Given the description of an element on the screen output the (x, y) to click on. 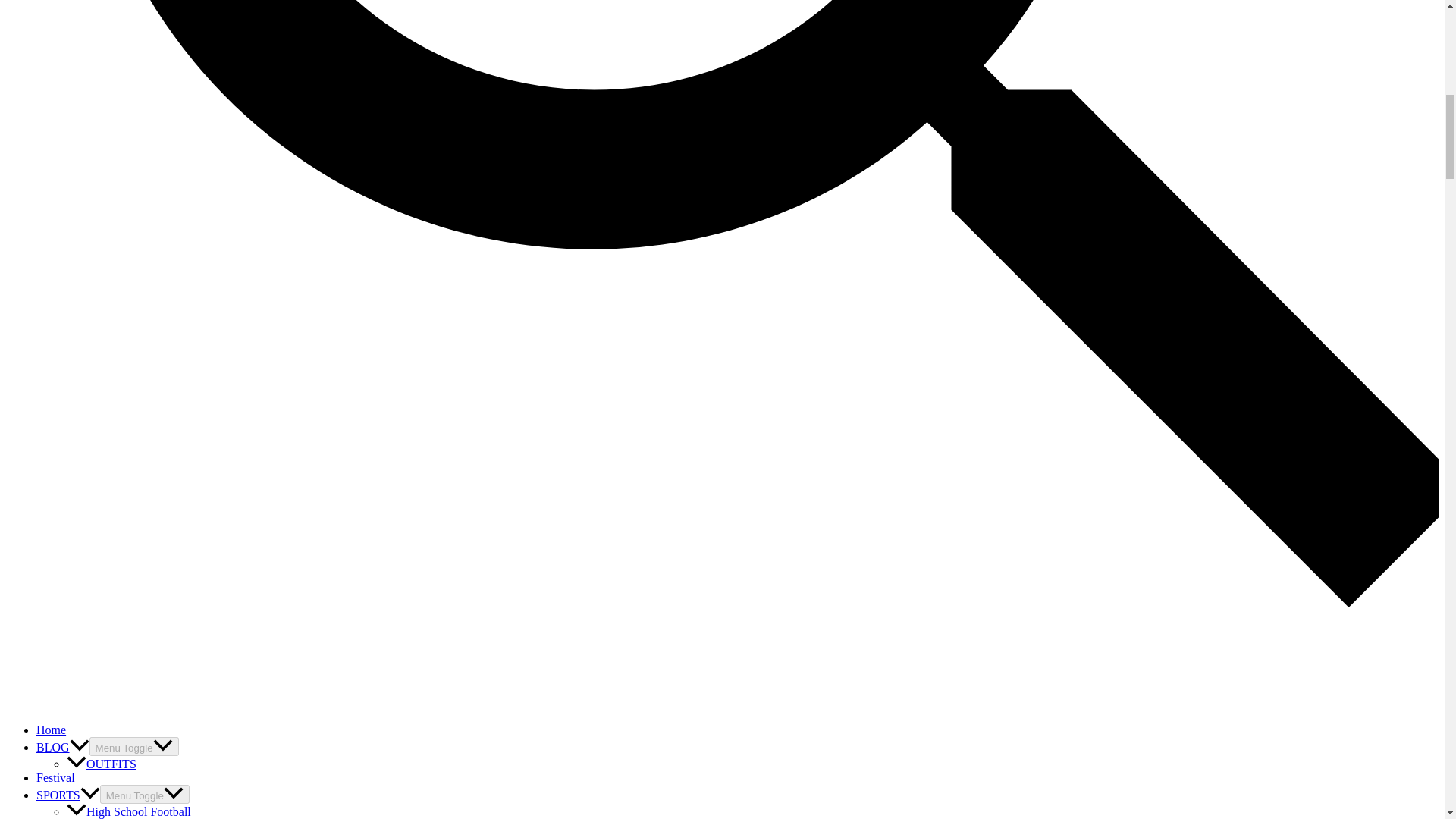
Festival (55, 777)
High School Football (128, 811)
Home (50, 729)
OUTFITS (101, 763)
BLOG (62, 747)
Menu Toggle (144, 793)
SPORTS (68, 794)
Menu Toggle (133, 746)
